Given the description of an element on the screen output the (x, y) to click on. 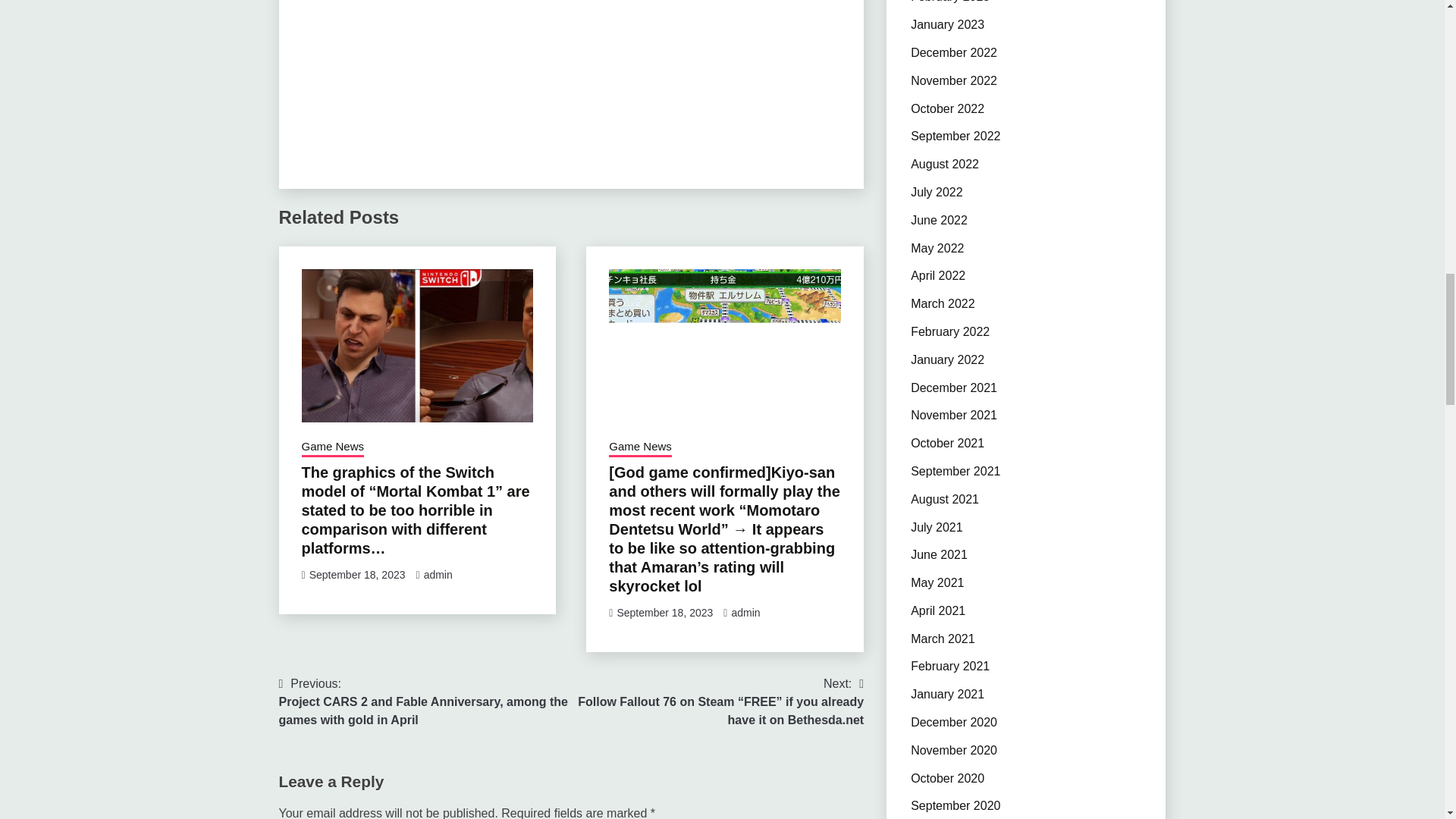
admin (745, 612)
September 18, 2023 (664, 612)
Game News (333, 447)
Game News (639, 447)
admin (437, 574)
September 18, 2023 (357, 574)
